Given the description of an element on the screen output the (x, y) to click on. 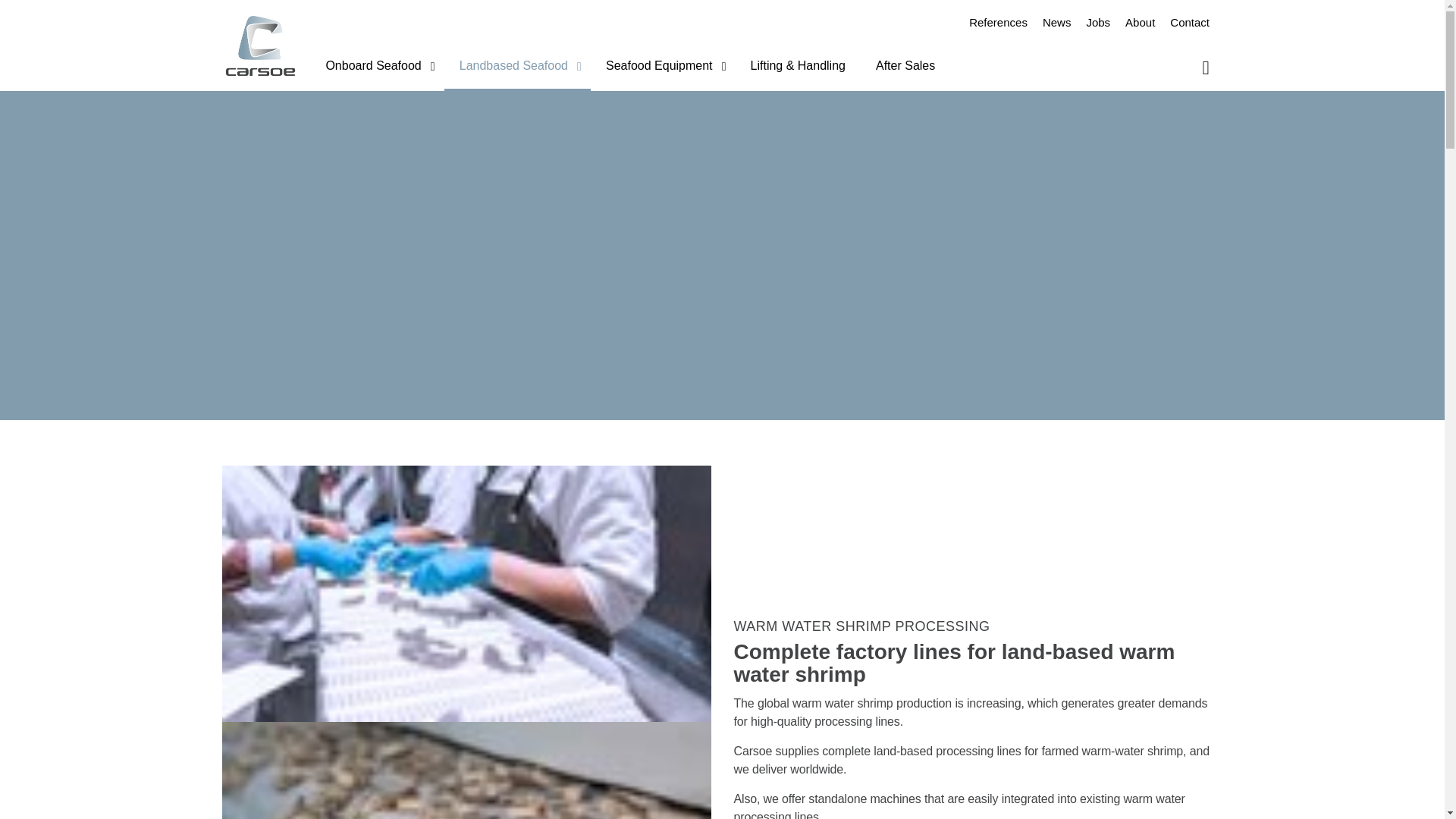
References (997, 22)
After Sales (905, 67)
Onboard Seafood (377, 67)
Contact (1189, 22)
Seafood Equipment (663, 67)
Skip to main content (722, 16)
Landbased Seafood (517, 67)
Carsoe (260, 45)
News (1056, 22)
About (1139, 22)
